Given the description of an element on the screen output the (x, y) to click on. 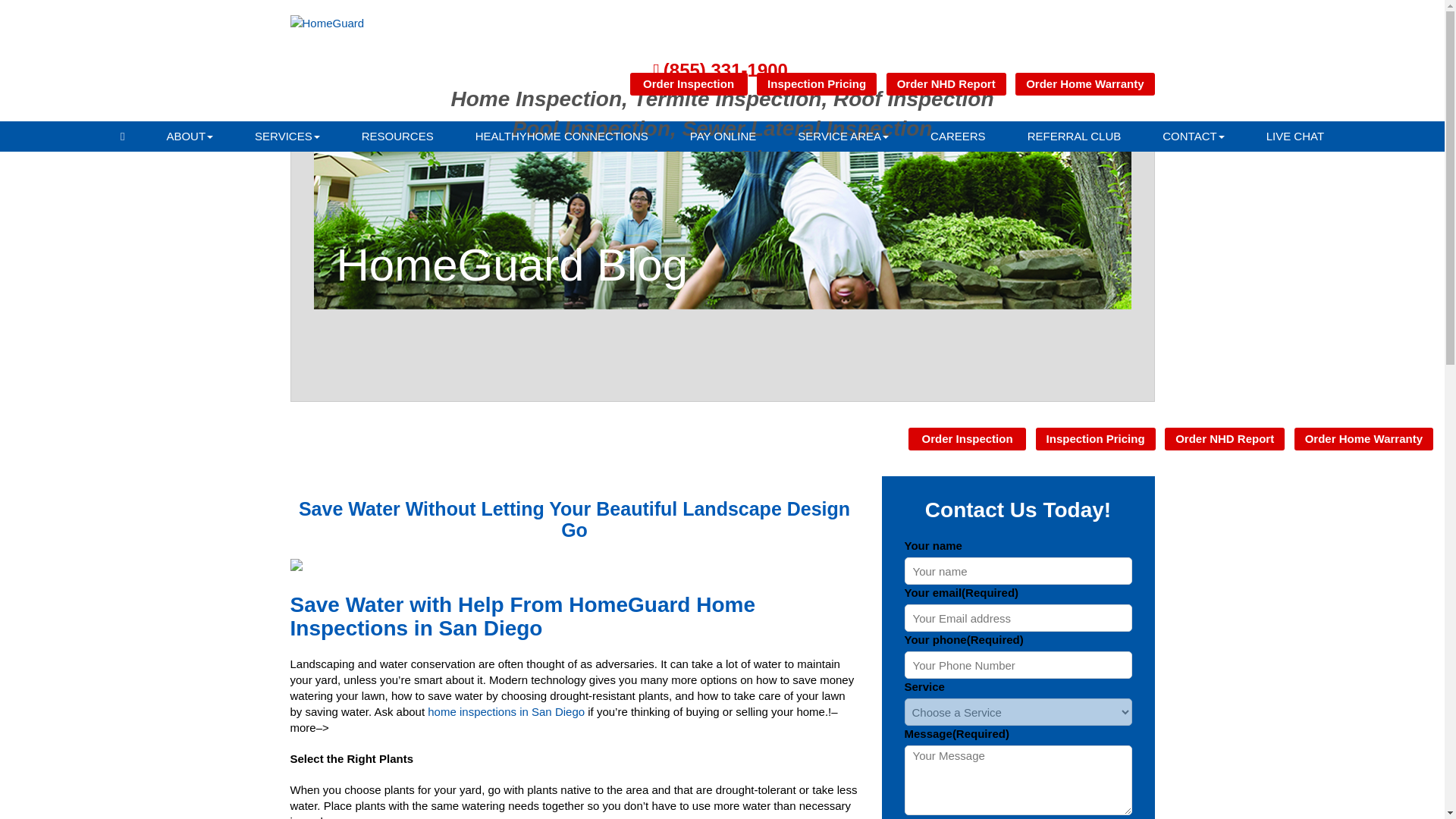
PAY ONLINE (722, 136)
Order Home Warranty (1084, 83)
SERVICES (287, 136)
RESOURCES (397, 136)
Order NHD Report (946, 83)
Inspection Pricing (816, 83)
SERVICE AREA (843, 136)
Order Inspection (689, 83)
